Given the description of an element on the screen output the (x, y) to click on. 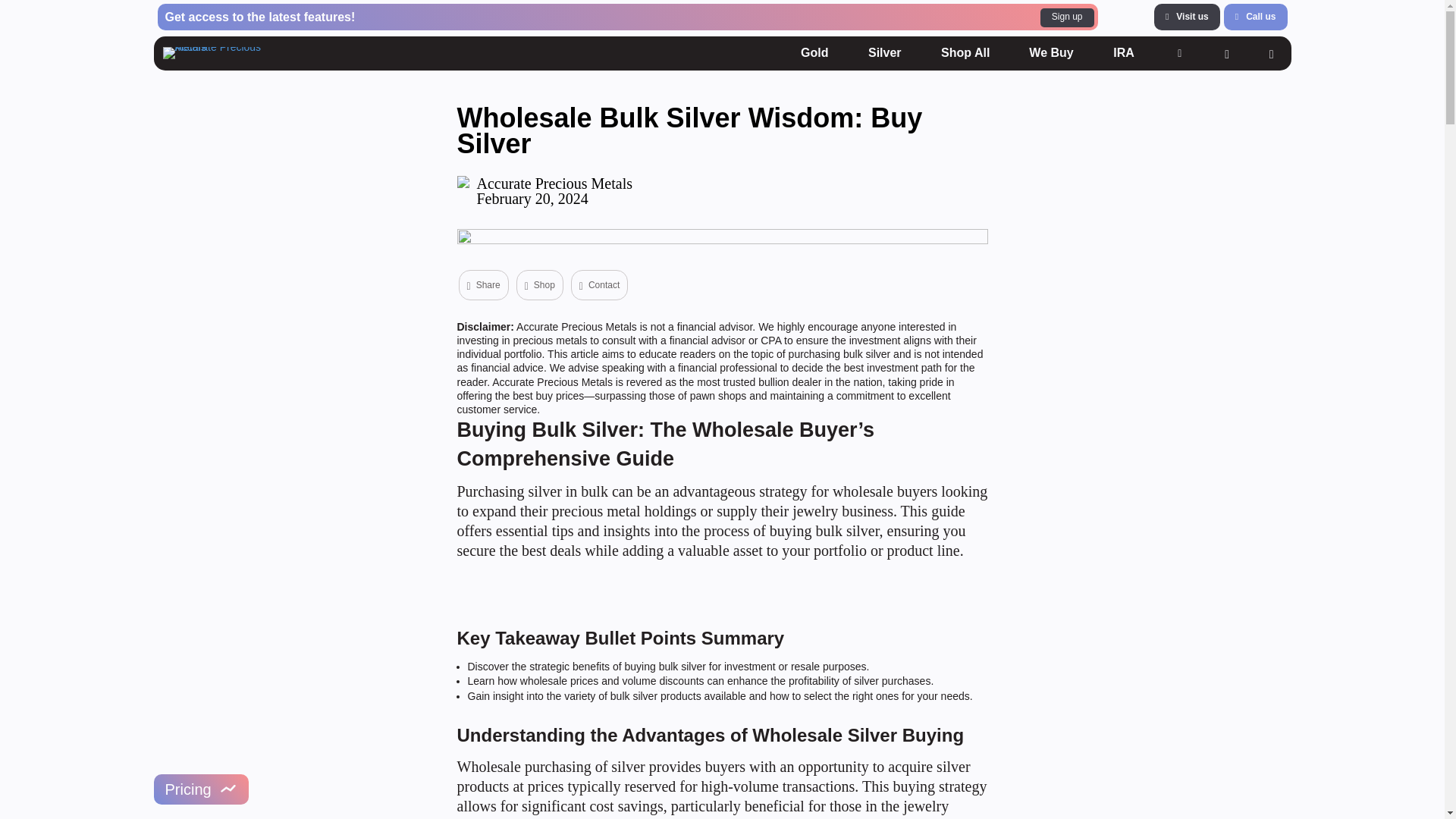
Full-Inline-coolwhite100 (221, 52)
Call us (885, 52)
Visit us (1255, 17)
